Given the description of an element on the screen output the (x, y) to click on. 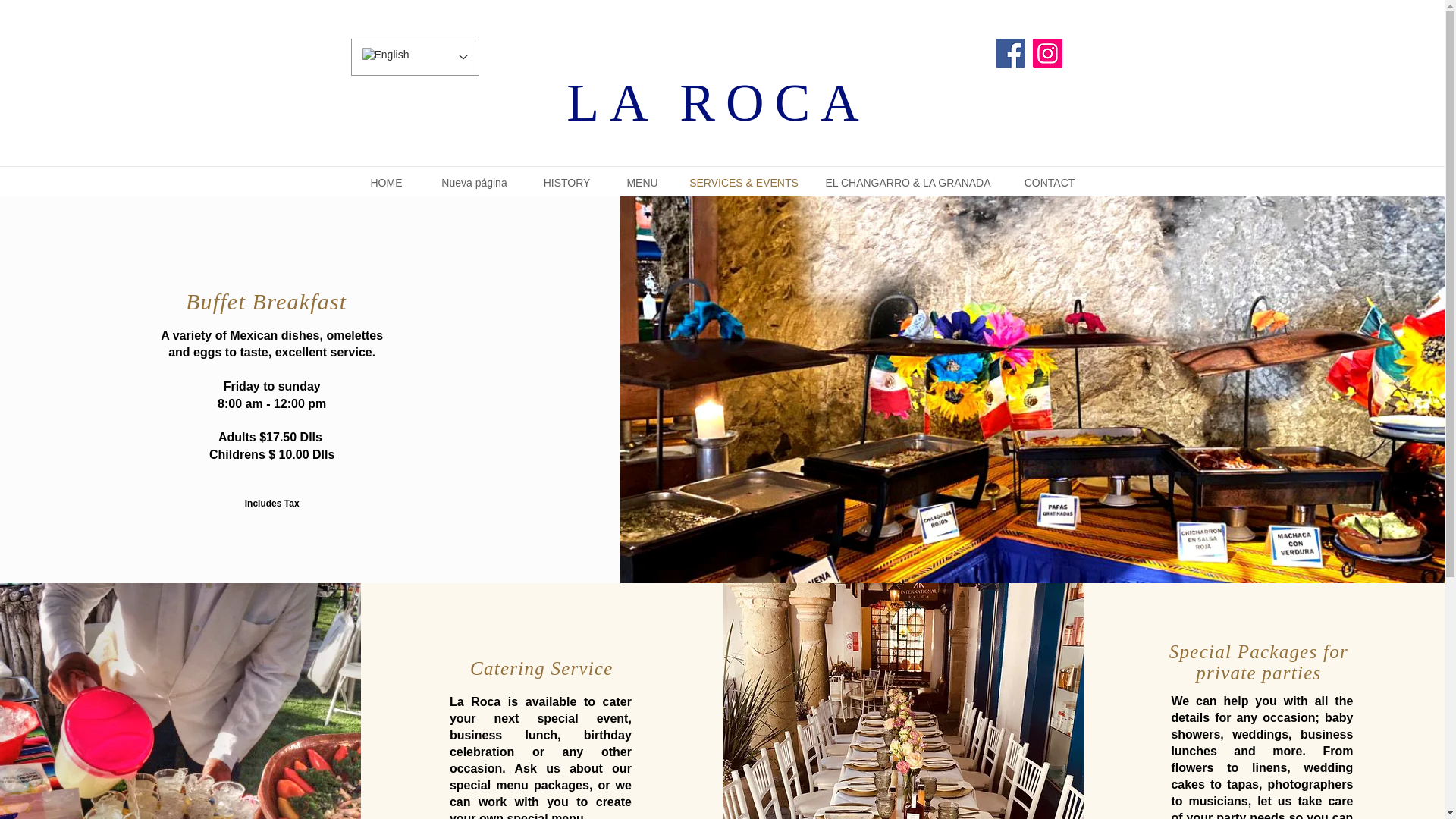
CONTACT (1049, 182)
MENU (642, 182)
LA ROCA (717, 102)
HISTORY (566, 182)
HOME (386, 182)
